Given the description of an element on the screen output the (x, y) to click on. 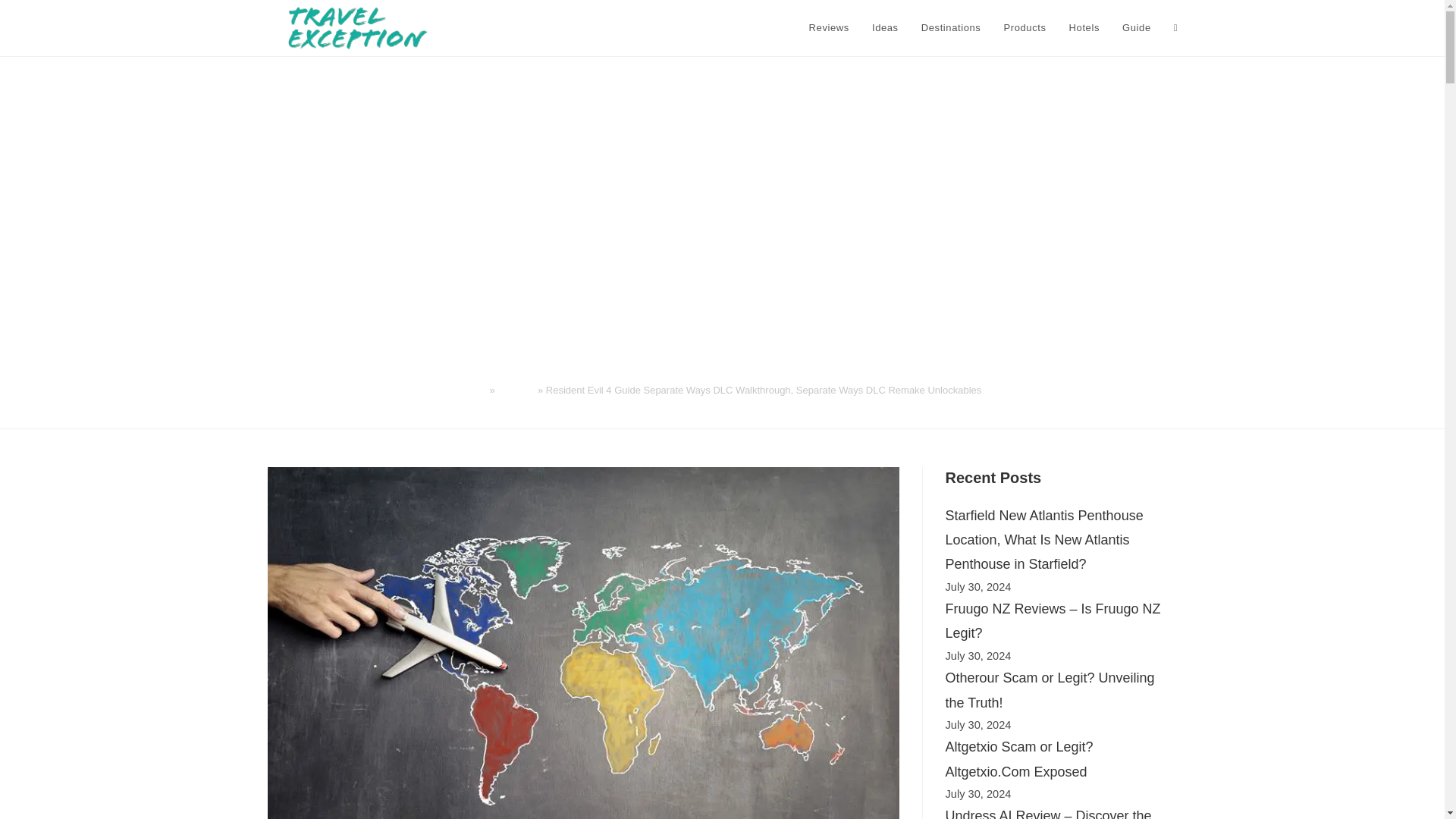
Home (473, 389)
Reviews (828, 28)
Guide (1135, 28)
Products (1024, 28)
Destinations (951, 28)
Reviews (515, 389)
Hotels (1084, 28)
